Given the description of an element on the screen output the (x, y) to click on. 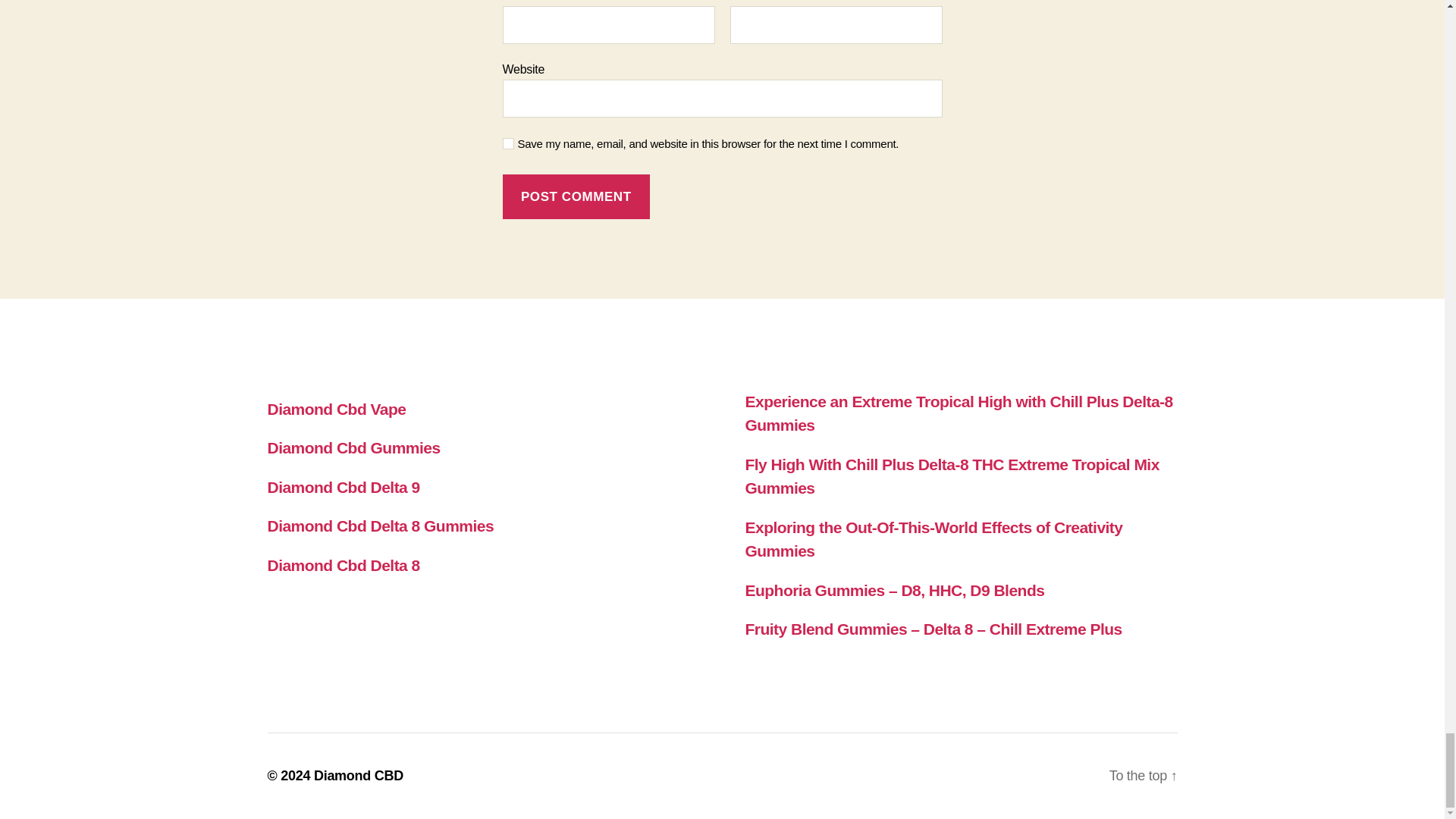
yes (507, 143)
Diamond Cbd Delta 8 Gummies (379, 525)
Post Comment (575, 196)
Diamond Cbd Vape (336, 408)
Post Comment (575, 196)
Diamond Cbd Gummies (352, 447)
Diamond Cbd Delta 9 (342, 487)
Diamond Cbd Delta 8 (342, 565)
